Given the description of an element on the screen output the (x, y) to click on. 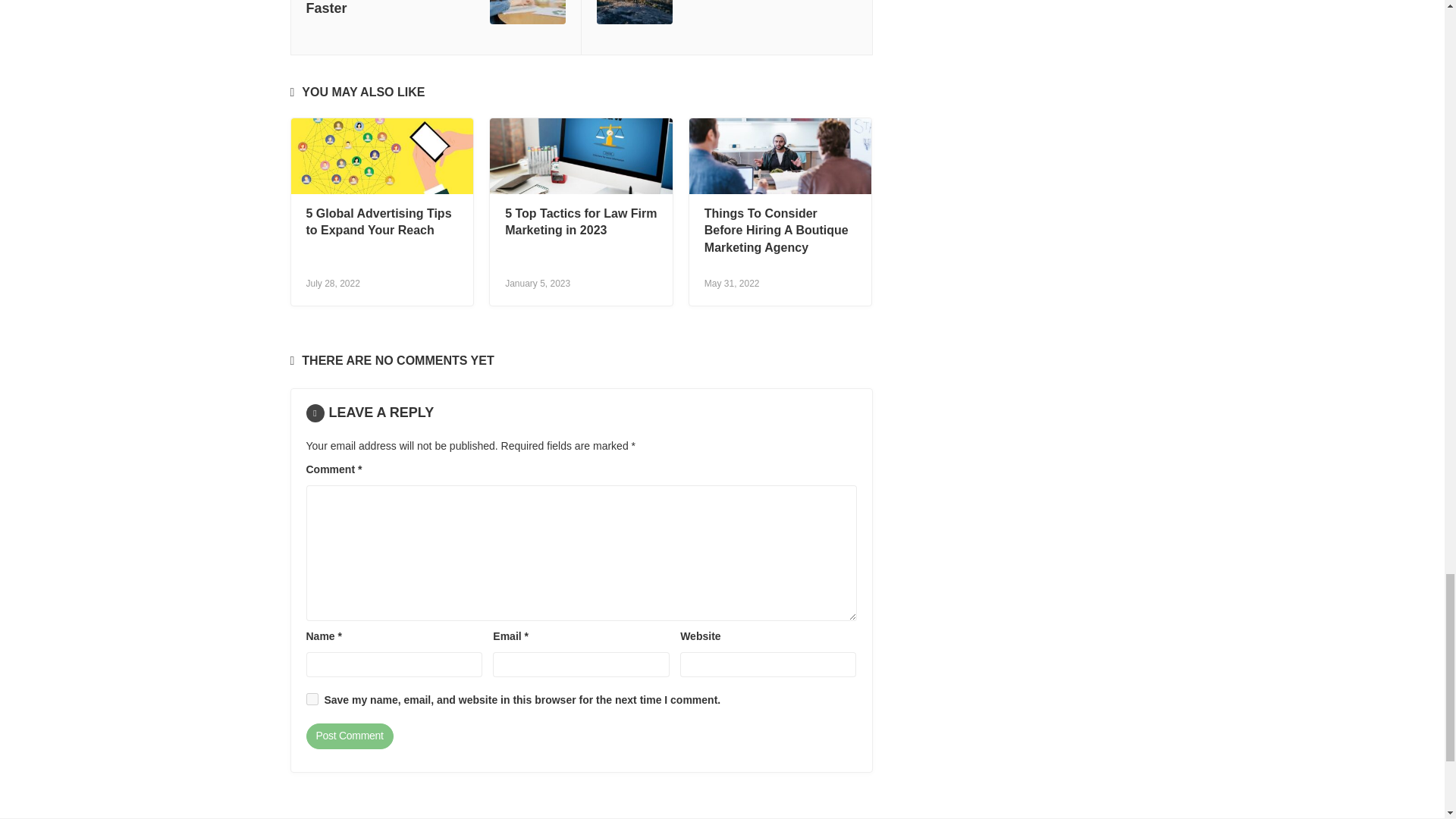
yes (311, 698)
Post Comment (349, 736)
